Given the description of an element on the screen output the (x, y) to click on. 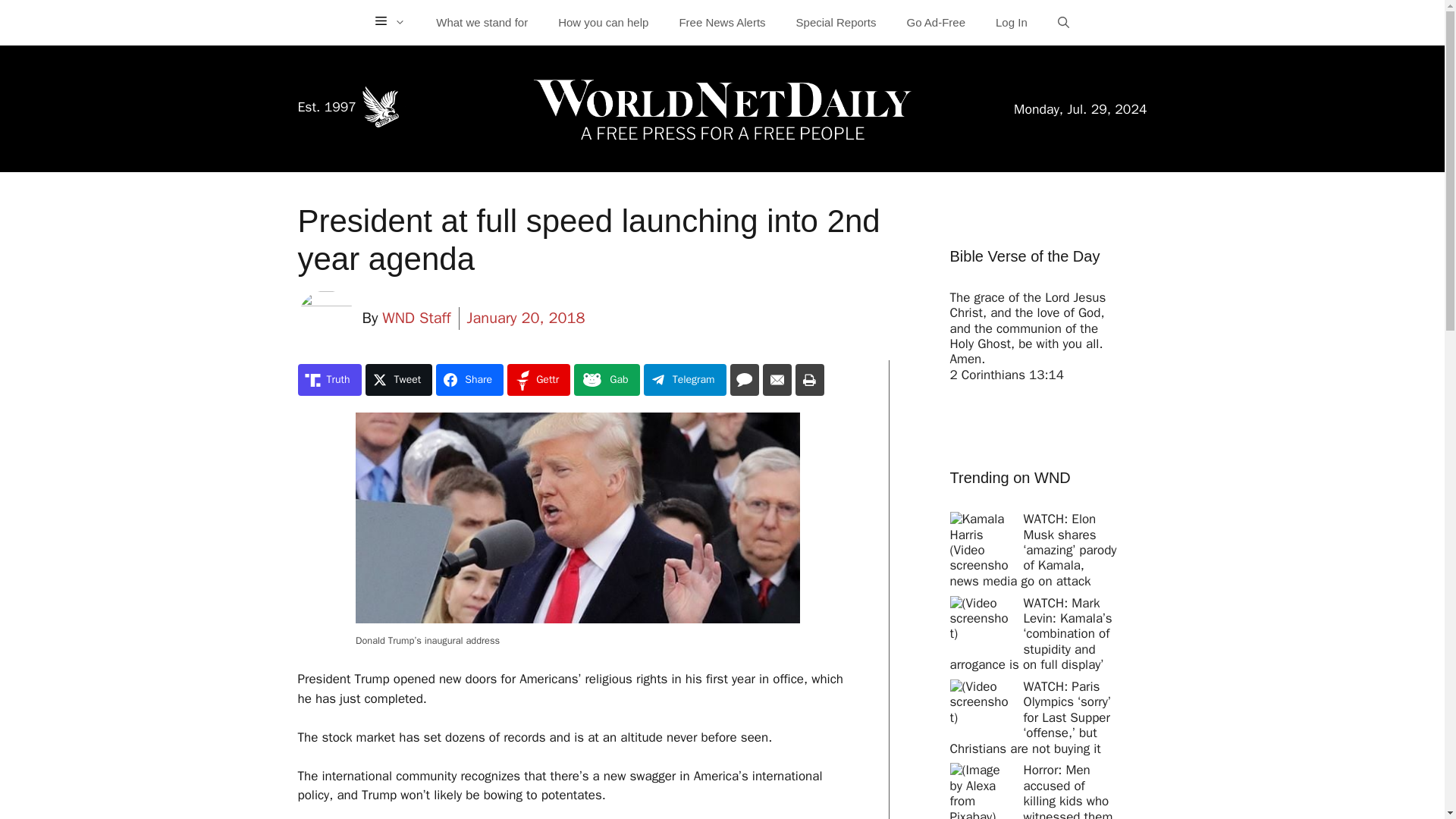
Share on Share (469, 379)
Share on Truth (329, 379)
Share on Tweet (398, 379)
Share on Gab (606, 379)
Share on Gettr (538, 379)
Share on Telegram (684, 379)
